Given the description of an element on the screen output the (x, y) to click on. 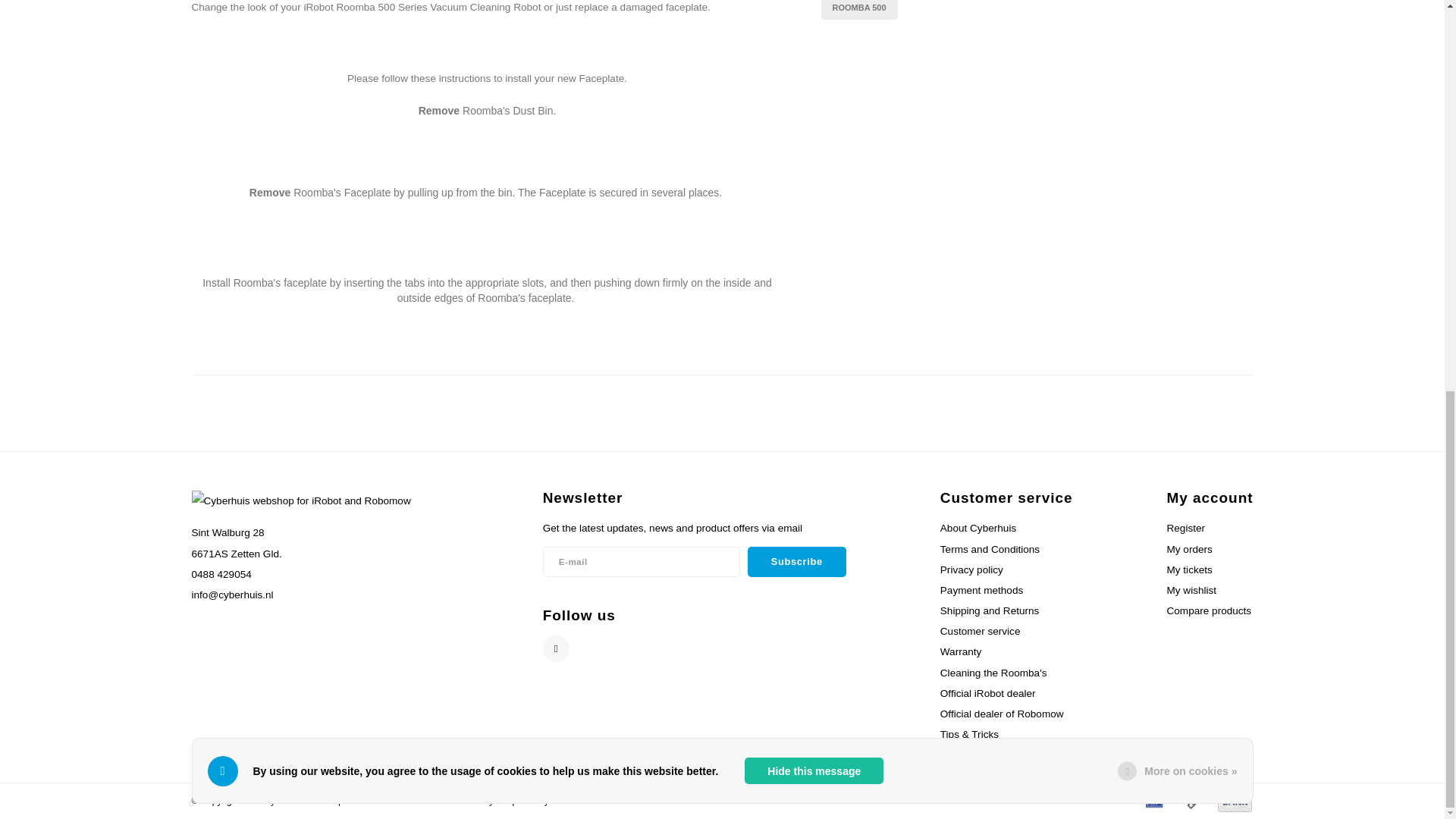
Subscribe (796, 562)
My orders (1188, 549)
Payment methods (1152, 799)
My wishlist (1190, 590)
Payment methods (1193, 799)
Register (1185, 527)
My tickets (1188, 569)
